Given the description of an element on the screen output the (x, y) to click on. 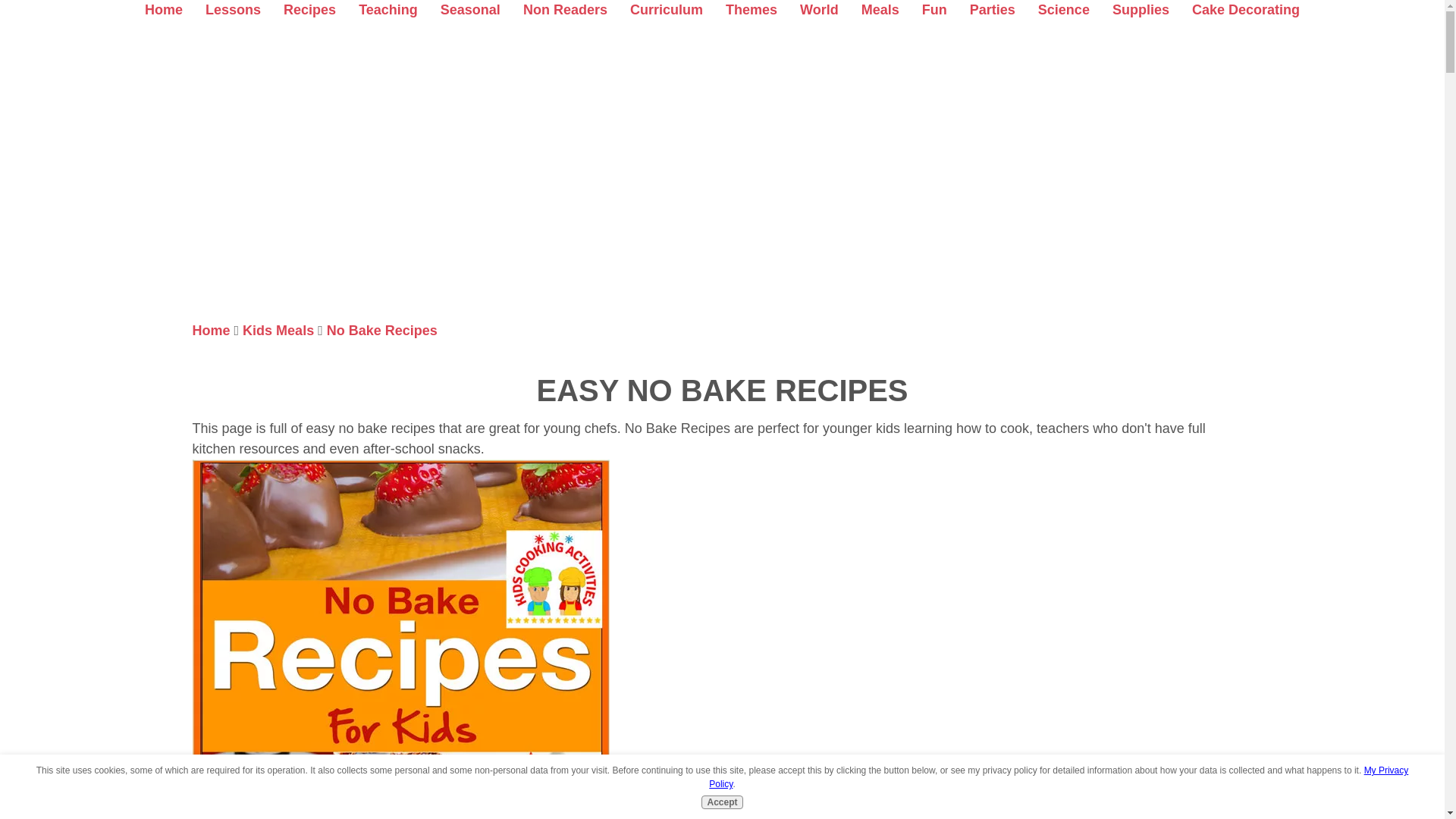
Parties (991, 9)
Curriculum (666, 9)
Themes (751, 9)
Lessons (232, 9)
Home (163, 9)
Kids Meals (278, 330)
Recipes (309, 9)
Non Readers (564, 9)
Supplies (1140, 9)
Teaching (387, 9)
